Given the description of an element on the screen output the (x, y) to click on. 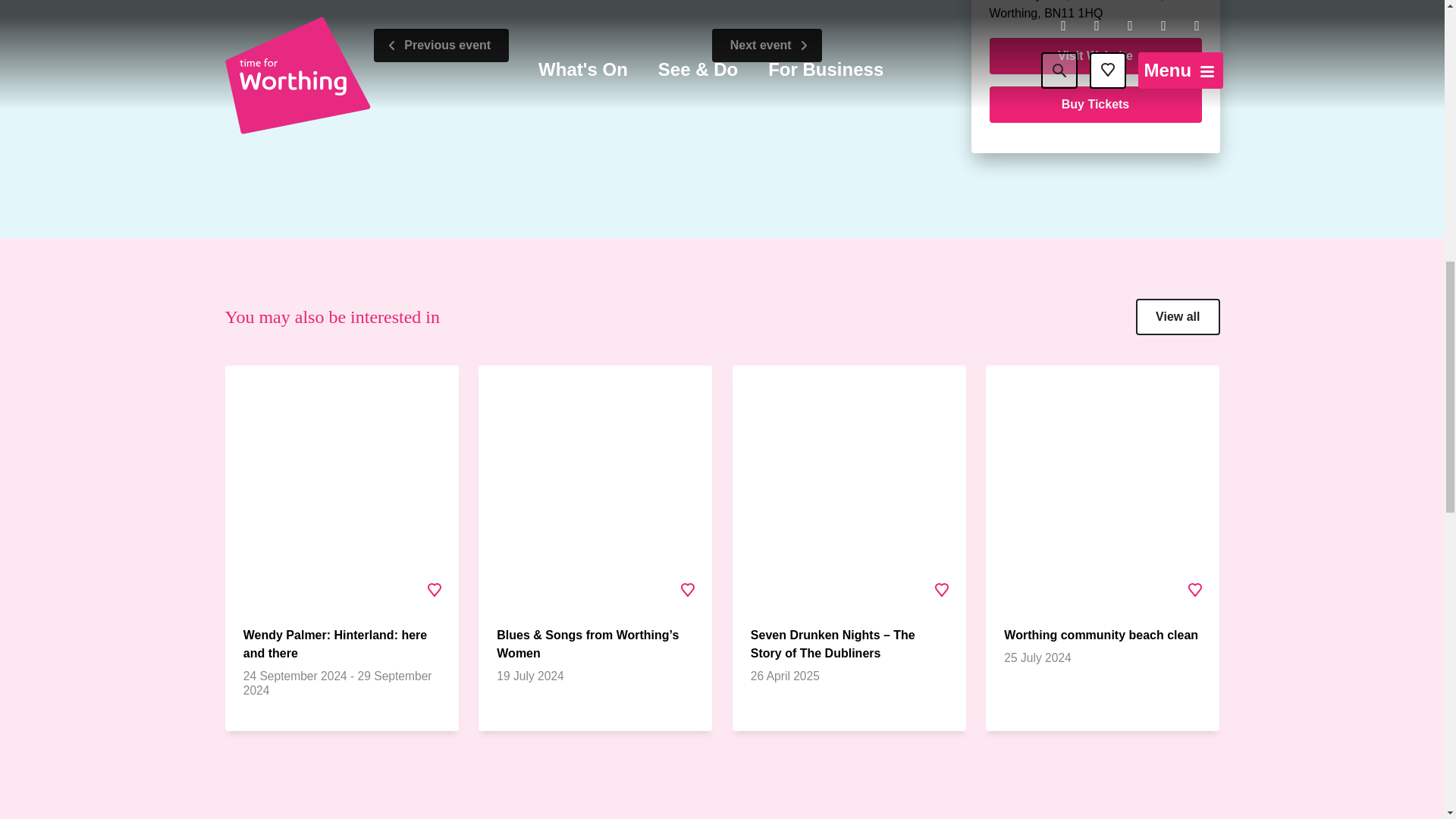
Add to favorites (687, 589)
Add to favorites (434, 589)
Add to favorites (941, 589)
Add to favorites (1194, 589)
